Given the description of an element on the screen output the (x, y) to click on. 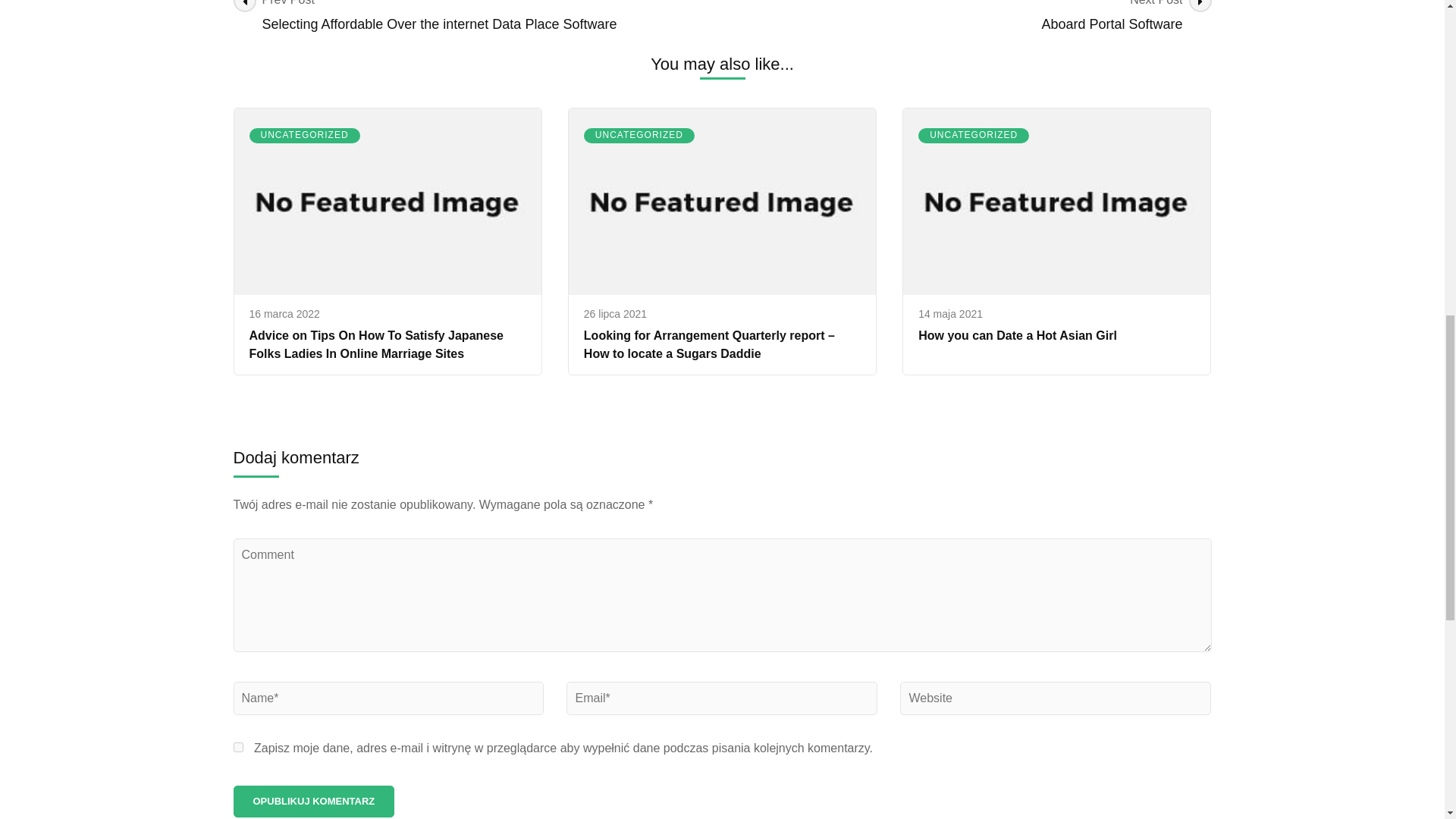
16 marca 2022 (283, 313)
Opublikuj komentarz (313, 801)
UNCATEGORIZED (303, 135)
yes (966, 18)
26 lipca 2021 (237, 747)
UNCATEGORIZED (614, 313)
